Given the description of an element on the screen output the (x, y) to click on. 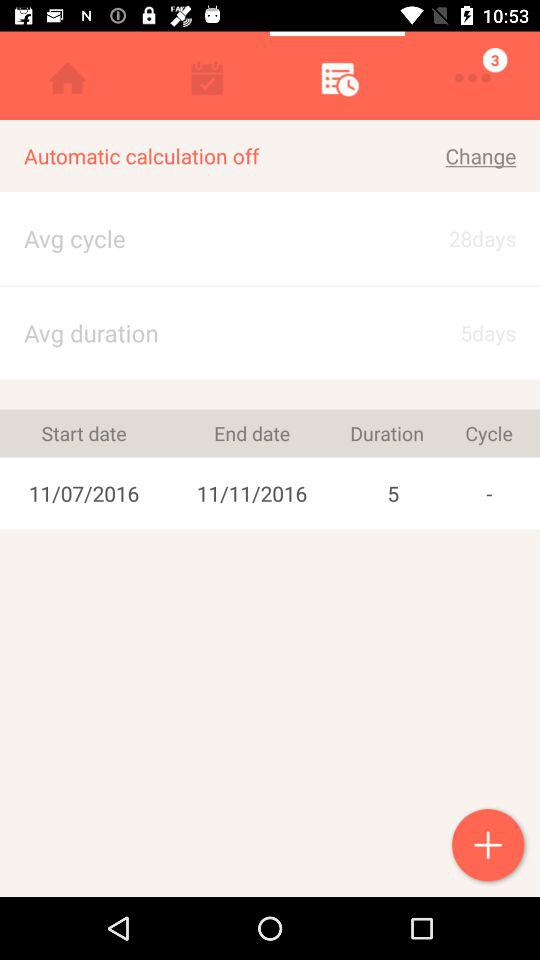
press icon next to the 11/11/2016 (84, 433)
